Given the description of an element on the screen output the (x, y) to click on. 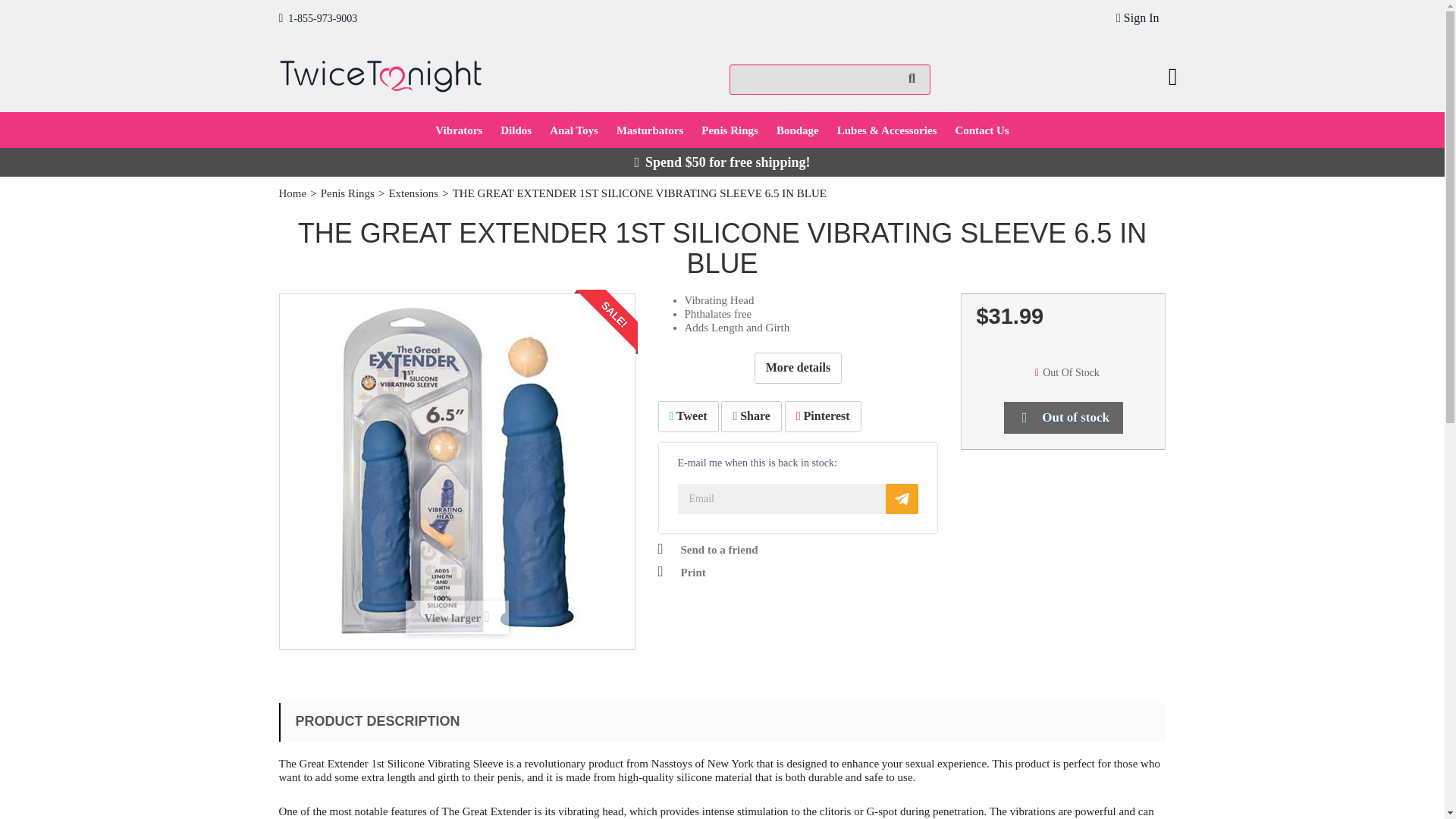
1-855-973-9003 (318, 18)
Anal Toys (573, 130)
Vibrators (459, 130)
Vibrators (459, 130)
Sign In (1137, 18)
Twice Tonight (380, 73)
Log in to your customer account (1137, 18)
Dildos (516, 130)
